Given the description of an element on the screen output the (x, y) to click on. 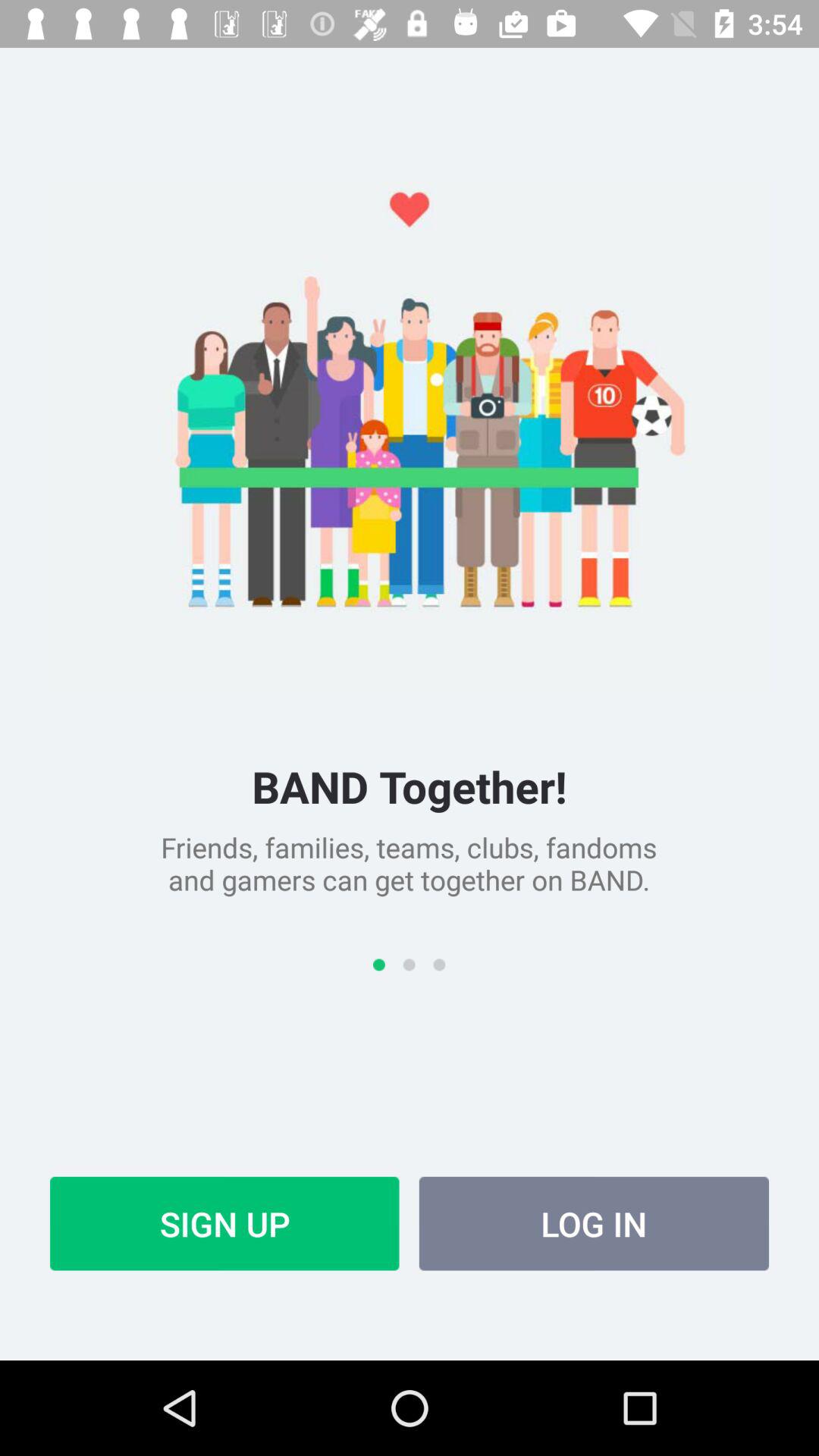
tap icon to the left of the log in (224, 1223)
